Given the description of an element on the screen output the (x, y) to click on. 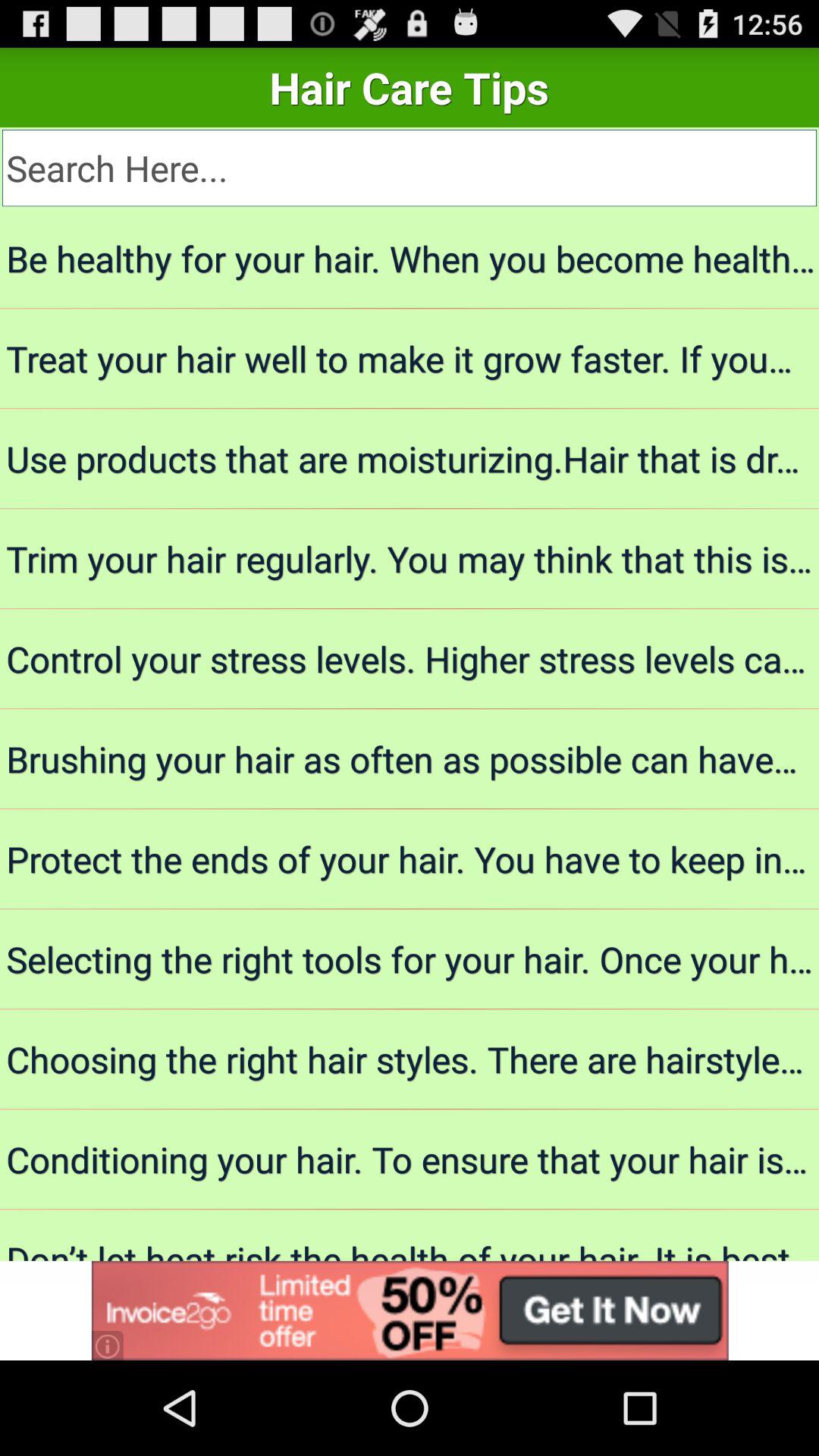
enter search term (409, 167)
